Given the description of an element on the screen output the (x, y) to click on. 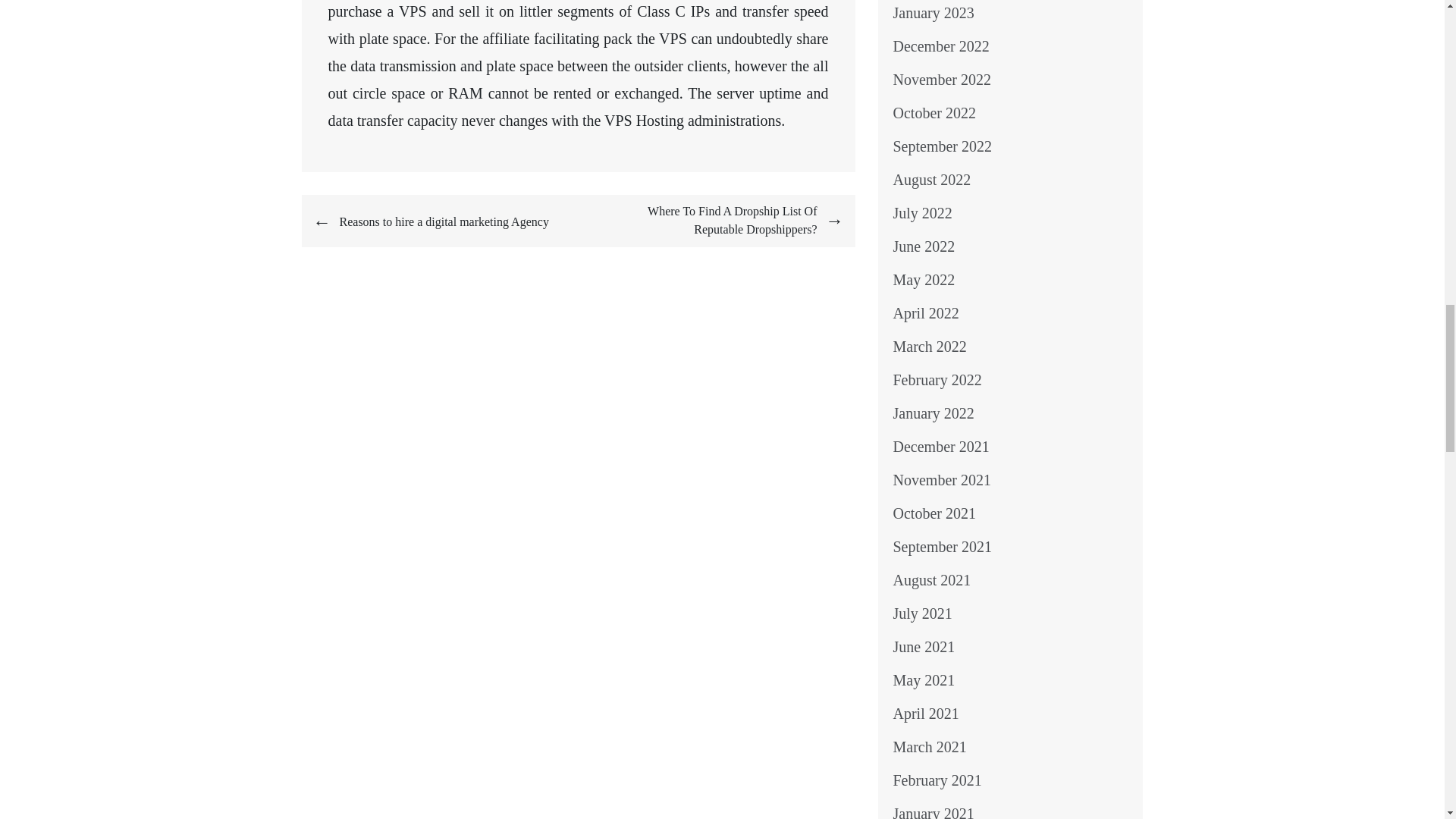
November 2022 (942, 79)
January 2023 (933, 12)
August 2022 (932, 179)
Where To Find A Dropship List Of Reputable Dropshippers? (710, 220)
September 2022 (942, 146)
October 2022 (934, 112)
July 2022 (922, 212)
December 2022 (941, 45)
Reasons to hire a digital marketing Agency (444, 221)
